Given the description of an element on the screen output the (x, y) to click on. 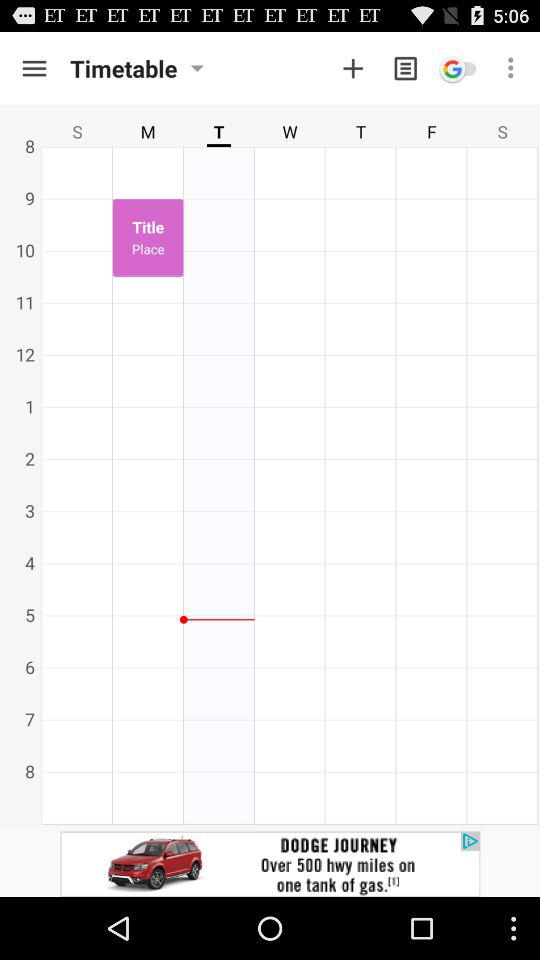
view advertisement (270, 864)
